Given the description of an element on the screen output the (x, y) to click on. 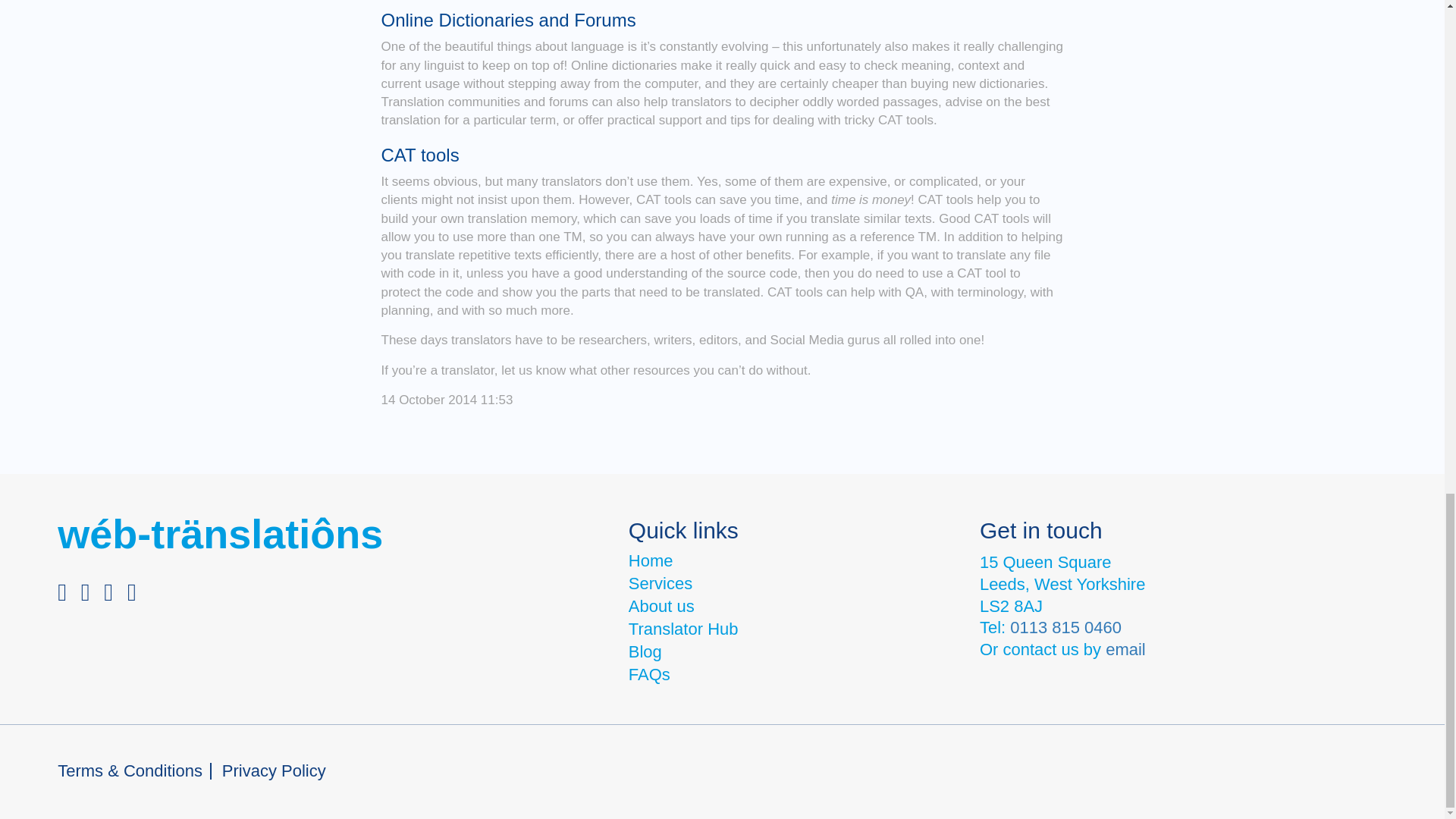
Home (650, 560)
